Given the description of an element on the screen output the (x, y) to click on. 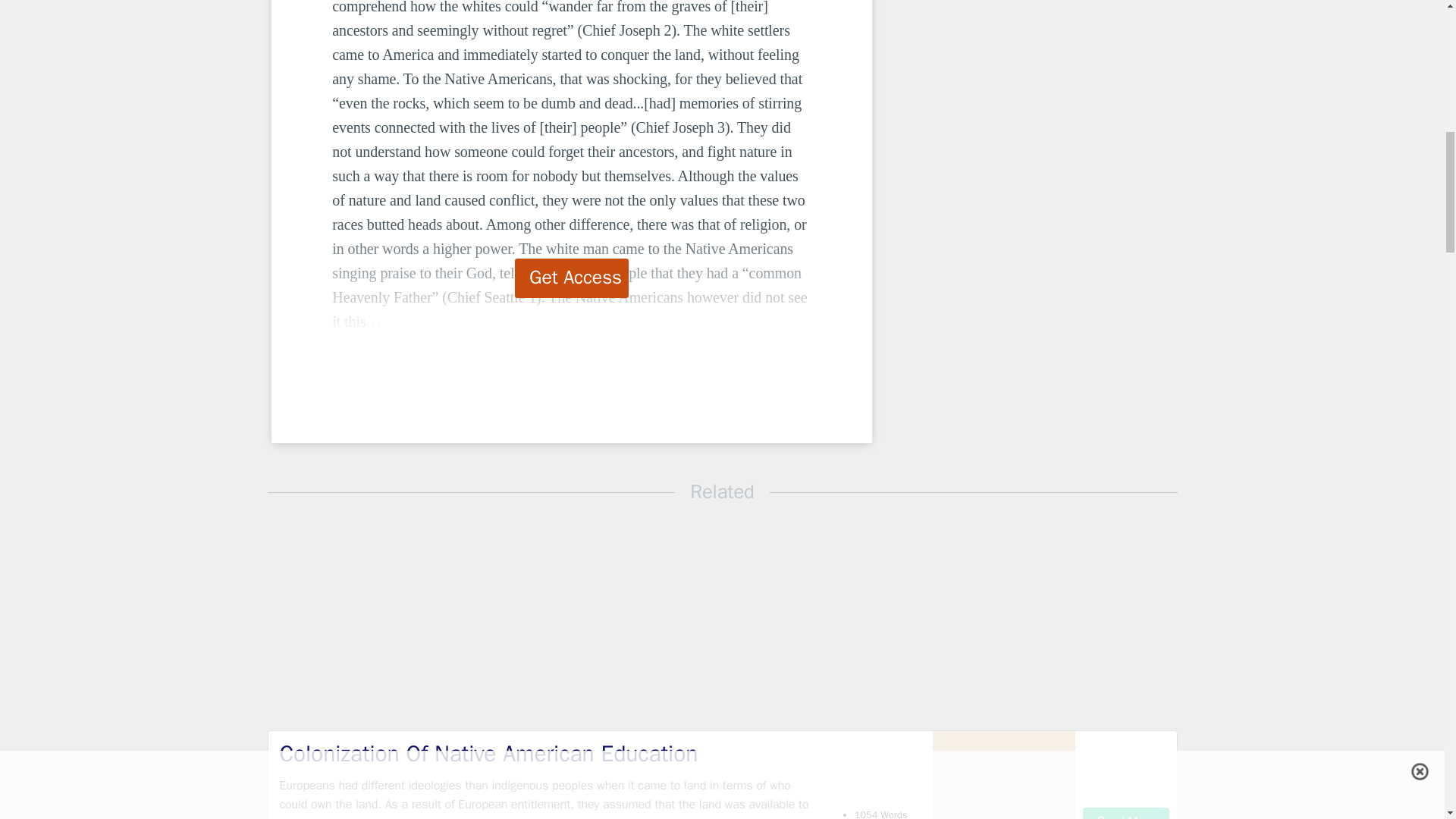
Read More (1126, 813)
3rd party ad content (997, 106)
Get Access (571, 278)
Colonization Of Native American Education (548, 753)
